Given the description of an element on the screen output the (x, y) to click on. 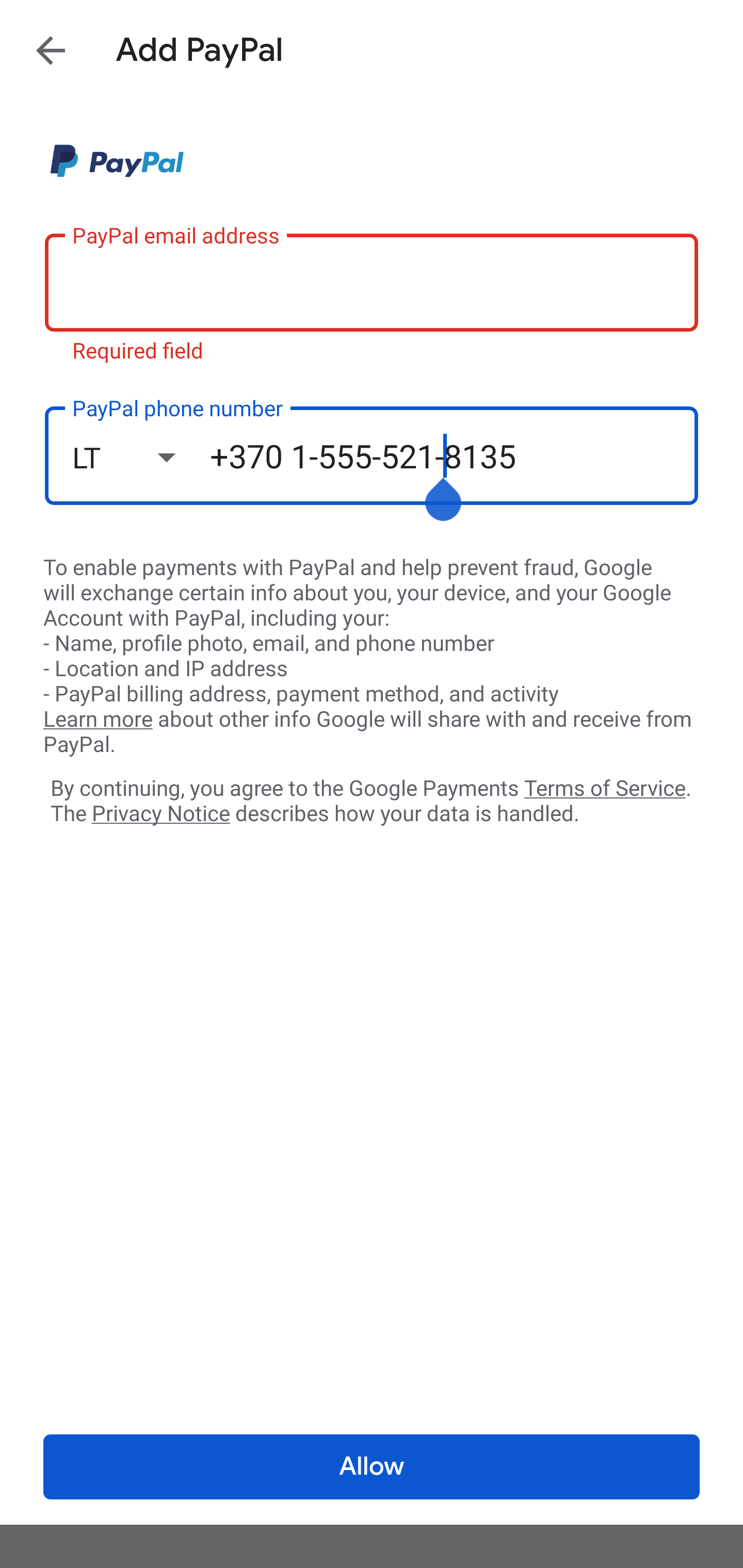
Navigate up (50, 50)
LT (141, 456)
Learn more (97, 719)
Terms of Service (604, 787)
Privacy Notice (160, 814)
Allow (371, 1466)
